Given the description of an element on the screen output the (x, y) to click on. 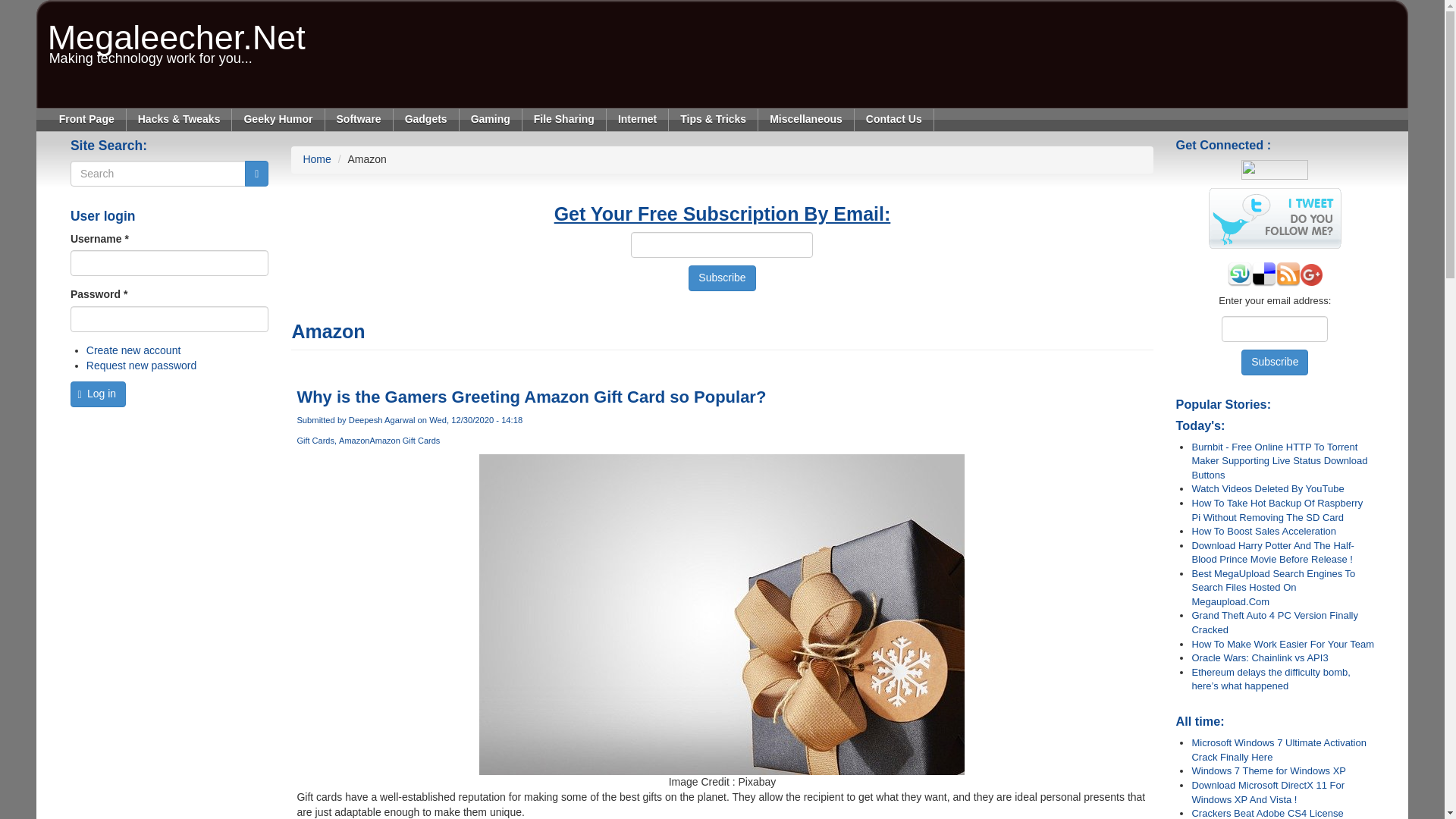
Subscribe (721, 278)
Megaleecher.Net (176, 20)
Request new password via e-mail. (140, 365)
View user profile. (381, 420)
Gift Cards (318, 440)
Create a new user account. (132, 349)
Software (358, 119)
Gaming (491, 119)
Subscribe (721, 278)
Enter the terms you wish to search for. (157, 173)
Log in (97, 394)
Contact Us (894, 119)
Geeky Humor (176, 20)
Request new password (277, 119)
